Given the description of an element on the screen output the (x, y) to click on. 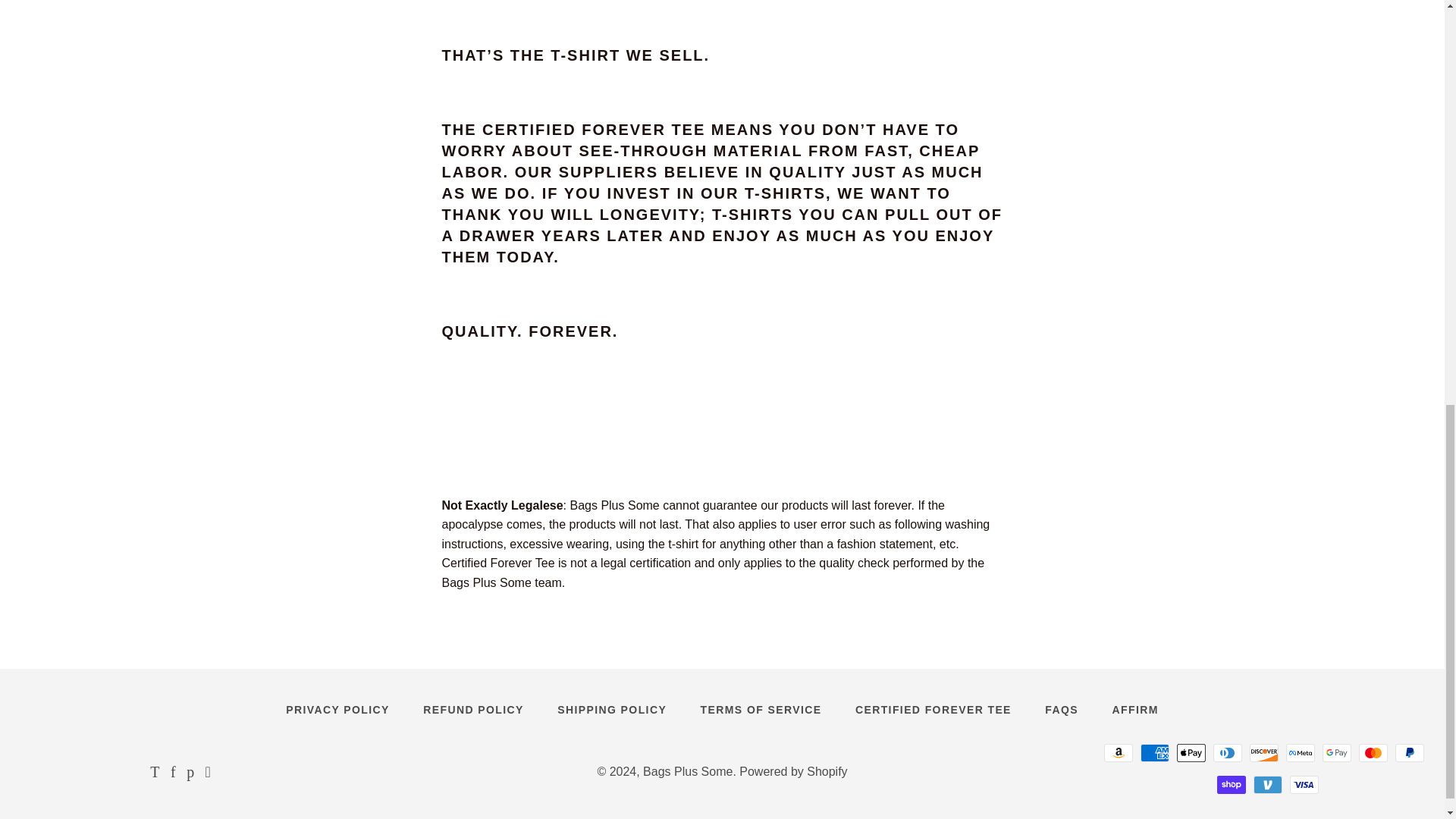
Discover (1263, 752)
Amazon (1117, 752)
Shop Pay (1231, 784)
Bags Plus Some on Instagram (208, 772)
American Express (1154, 752)
Bags Plus Some on Twitter (153, 772)
PayPal (1408, 752)
Apple Pay (1190, 752)
Venmo (1267, 784)
Google Pay (1336, 752)
Mastercard (1372, 752)
Visa (1304, 784)
Meta Pay (1299, 752)
Diners Club (1226, 752)
Bags Plus Some on Pinterest (189, 772)
